Given the description of an element on the screen output the (x, y) to click on. 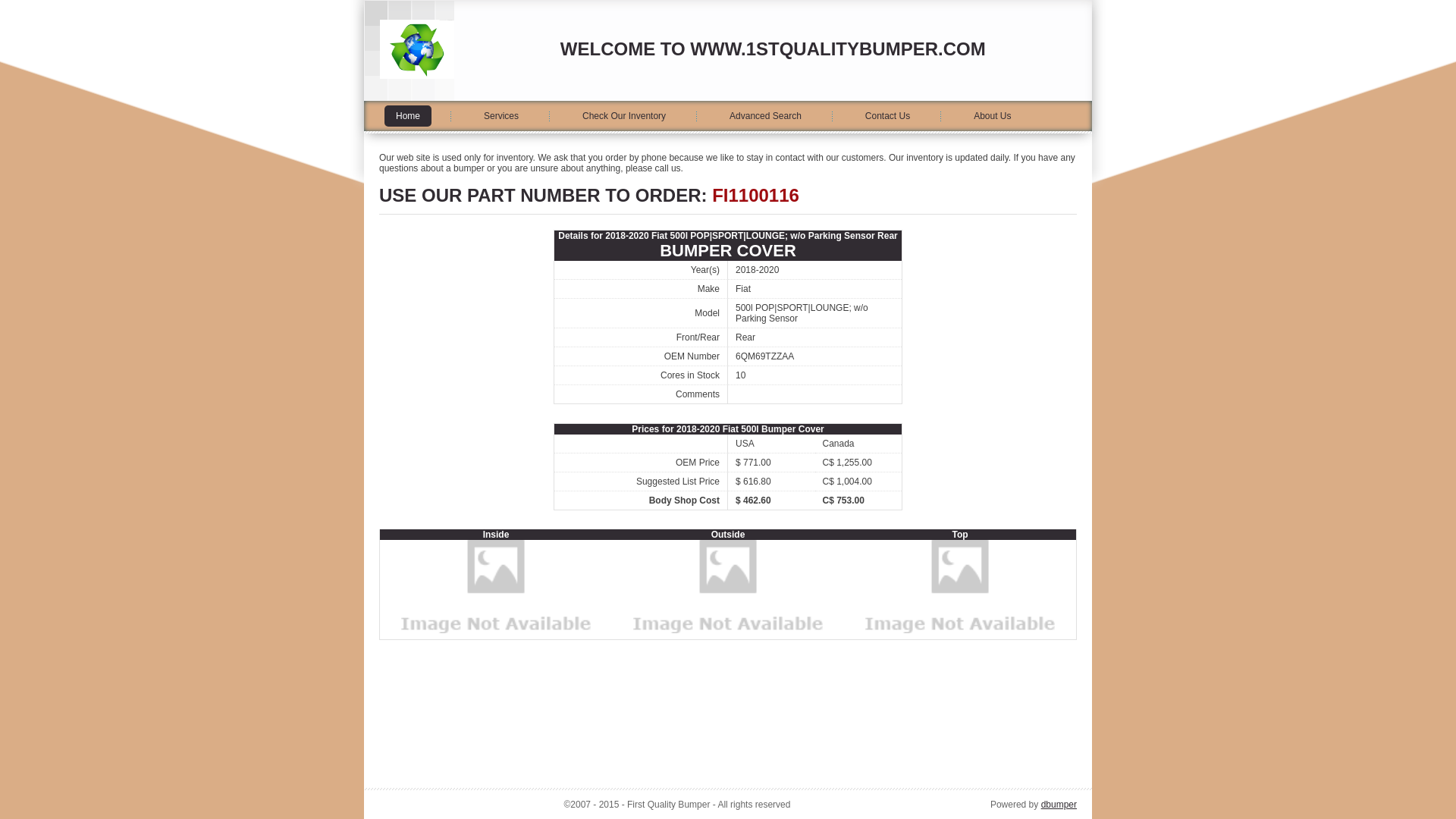
WELCOME TO WWW.1STQUALITYBUMPER.COM Element type: text (772, 48)
About Us Element type: text (991, 115)
dbumper Element type: text (1058, 804)
Home Element type: text (407, 115)
Contact Us Element type: text (887, 115)
Advanced Search Element type: text (765, 115)
Check Our Inventory Element type: text (623, 115)
Services Element type: text (500, 115)
